Given the description of an element on the screen output the (x, y) to click on. 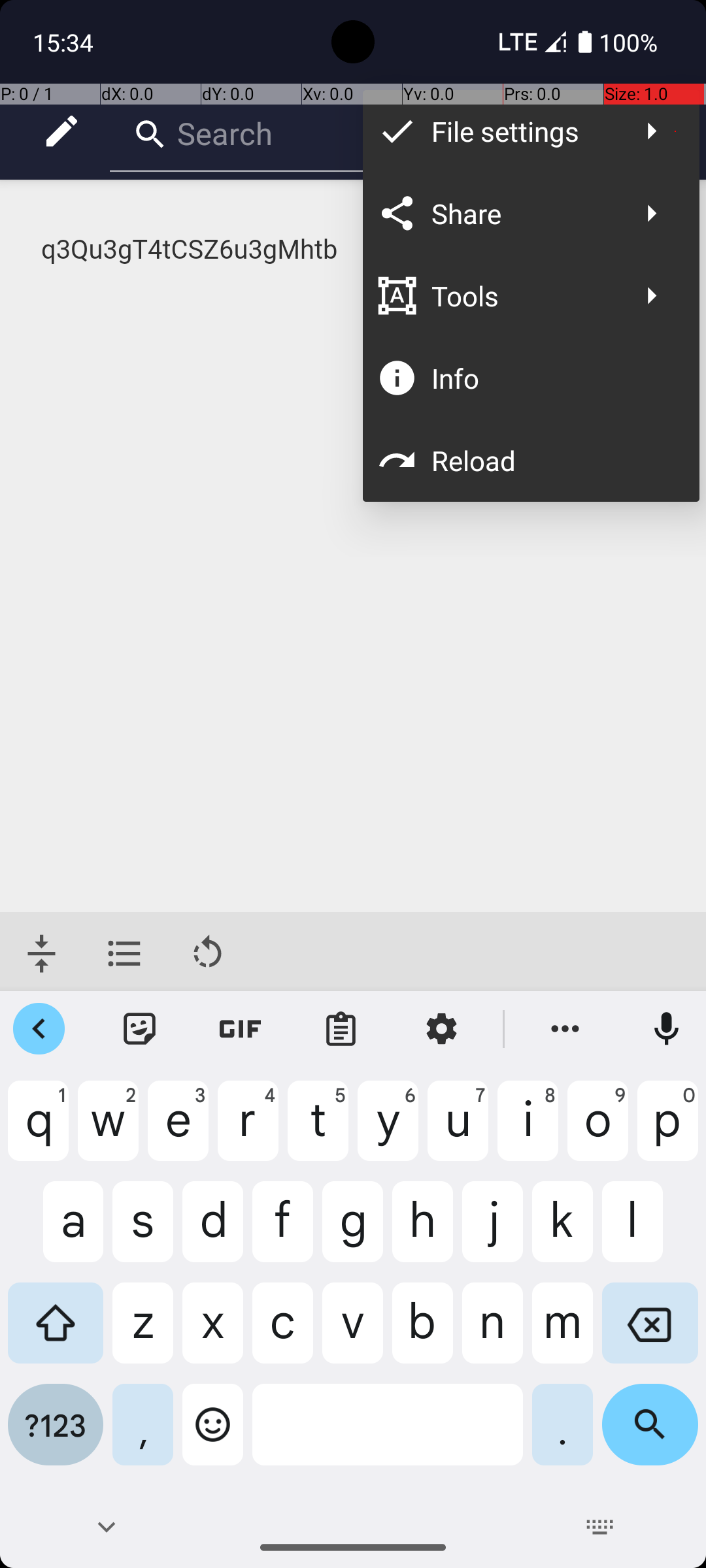
File settings Element type: android.widget.TextView (524, 130)
Tools Element type: android.widget.TextView (524, 295)
Info Element type: android.widget.TextView (551, 377)
Reload Element type: android.widget.TextView (551, 459)
